Given the description of an element on the screen output the (x, y) to click on. 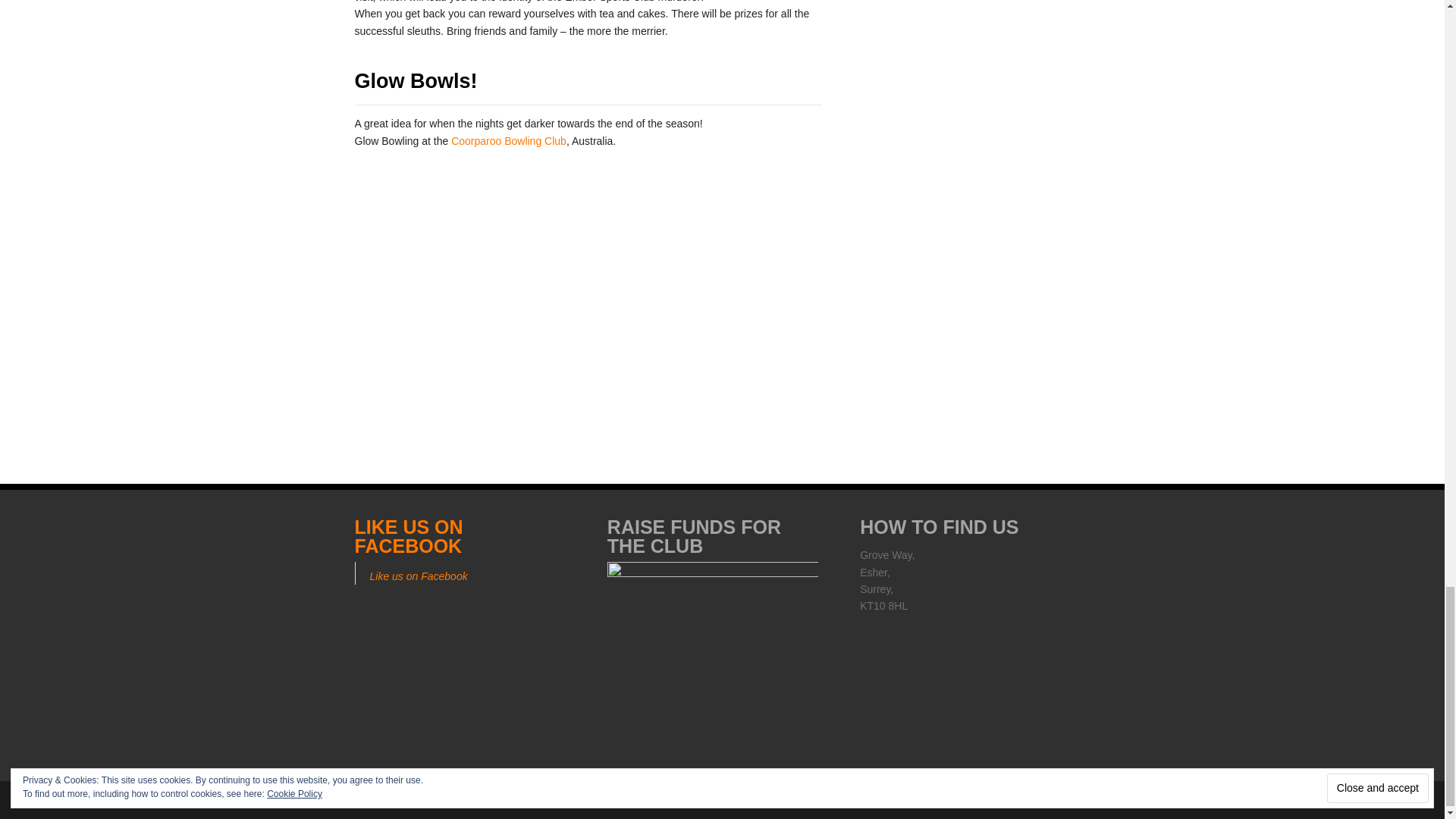
LIKE US ON FACEBOOK (409, 536)
Coorparoo Bowling Club (508, 141)
Glow Bowls! (416, 80)
Permalink to Glow Bowls! (416, 80)
WordPress (612, 801)
themeszen (762, 801)
Like us on Facebook (418, 576)
Glow Bowls at the Coorparoo Bowls Club (590, 281)
